Given the description of an element on the screen output the (x, y) to click on. 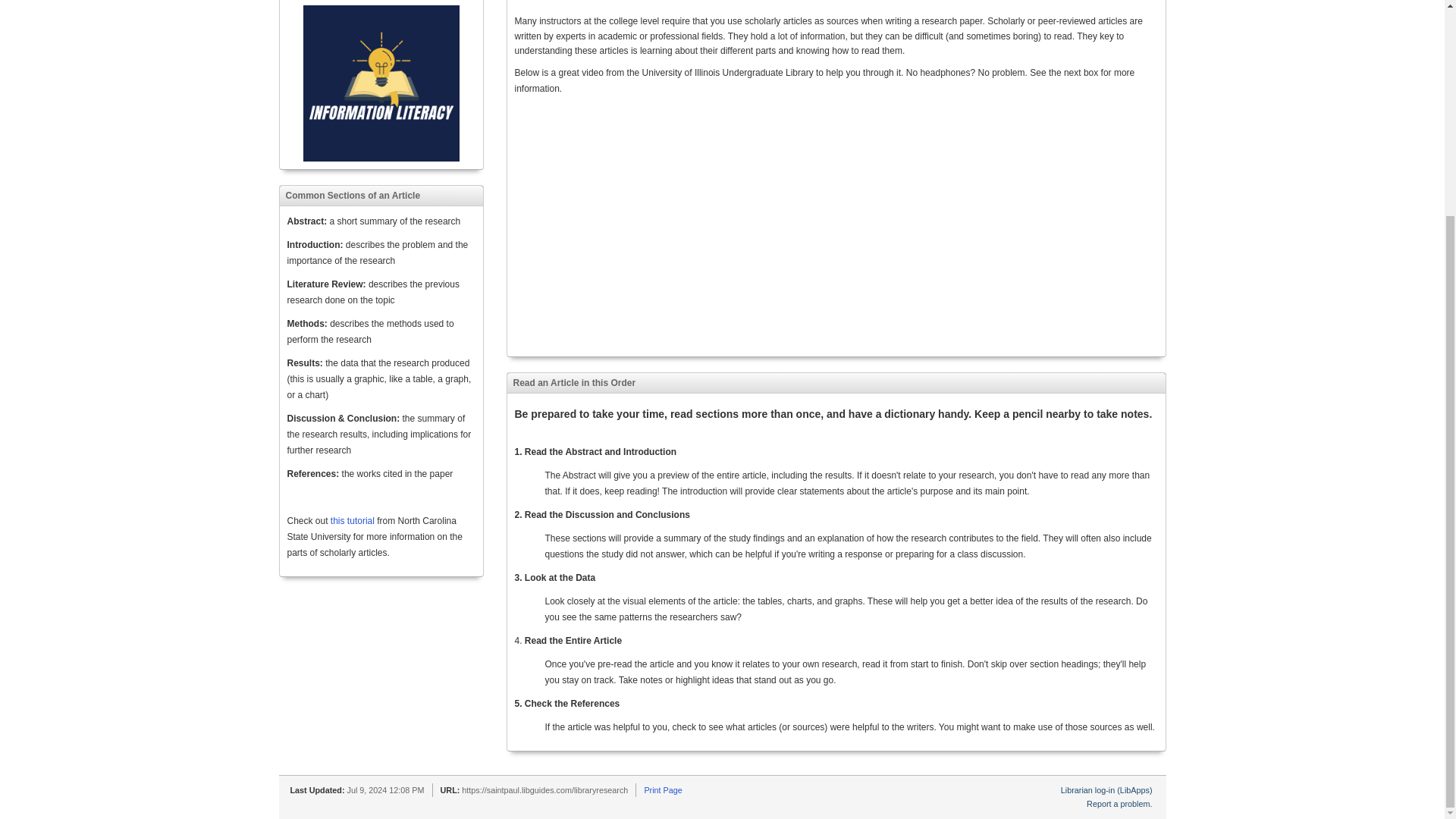
Print Page (662, 789)
Report a problem. (1118, 803)
How to Read a Scholarly Article (703, 223)
this tutorial (353, 520)
